Given the description of an element on the screen output the (x, y) to click on. 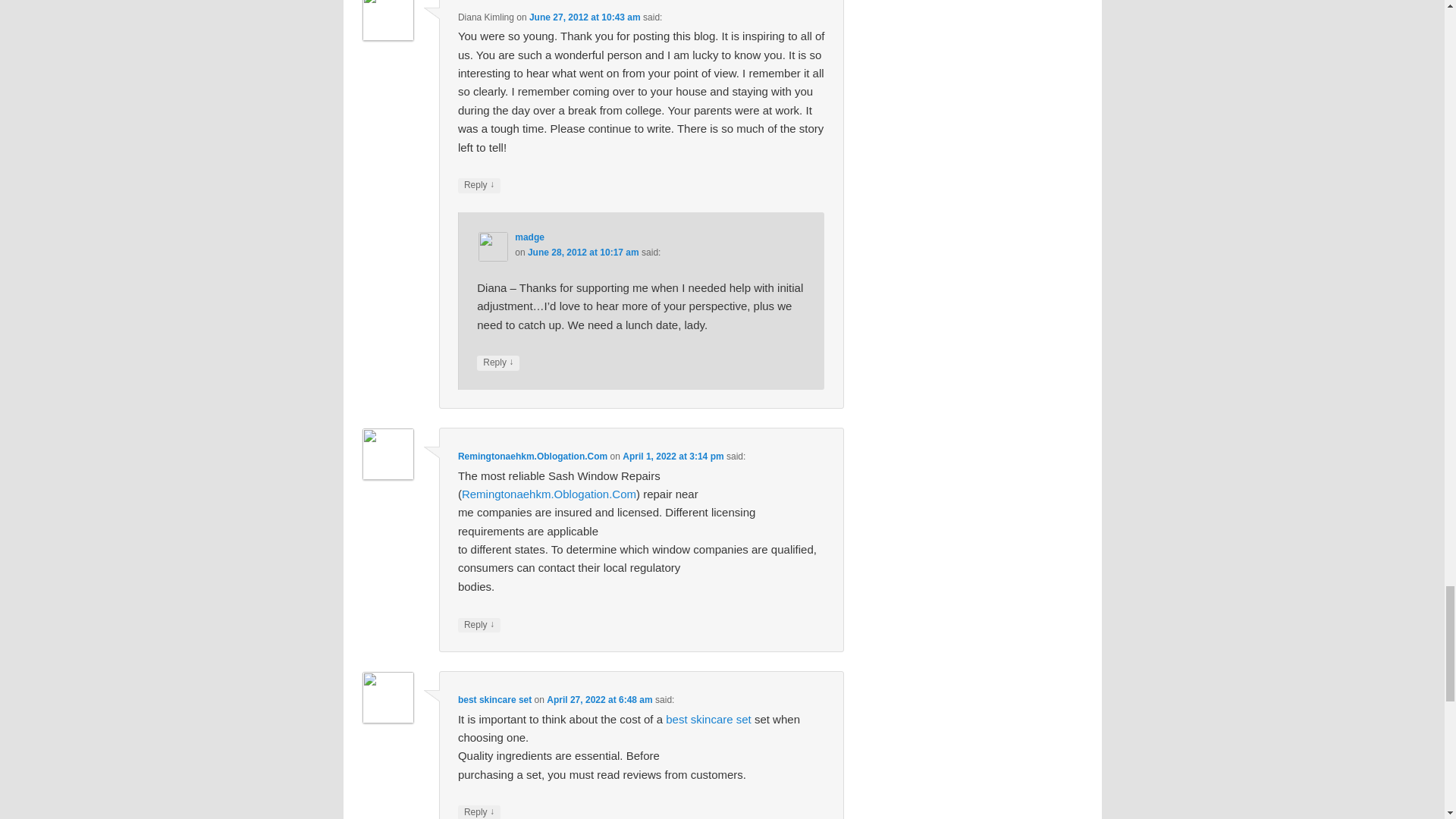
Remingtonaehkm.Oblogation.Com (548, 493)
madge (529, 236)
April 1, 2022 at 3:14 pm (673, 456)
June 27, 2012 at 10:43 am (584, 17)
Remingtonaehkm.Oblogation.Com (532, 456)
best skincare set (708, 718)
best skincare set (494, 699)
June 28, 2012 at 10:17 am (583, 252)
April 27, 2022 at 6:48 am (599, 699)
